Given the description of an element on the screen output the (x, y) to click on. 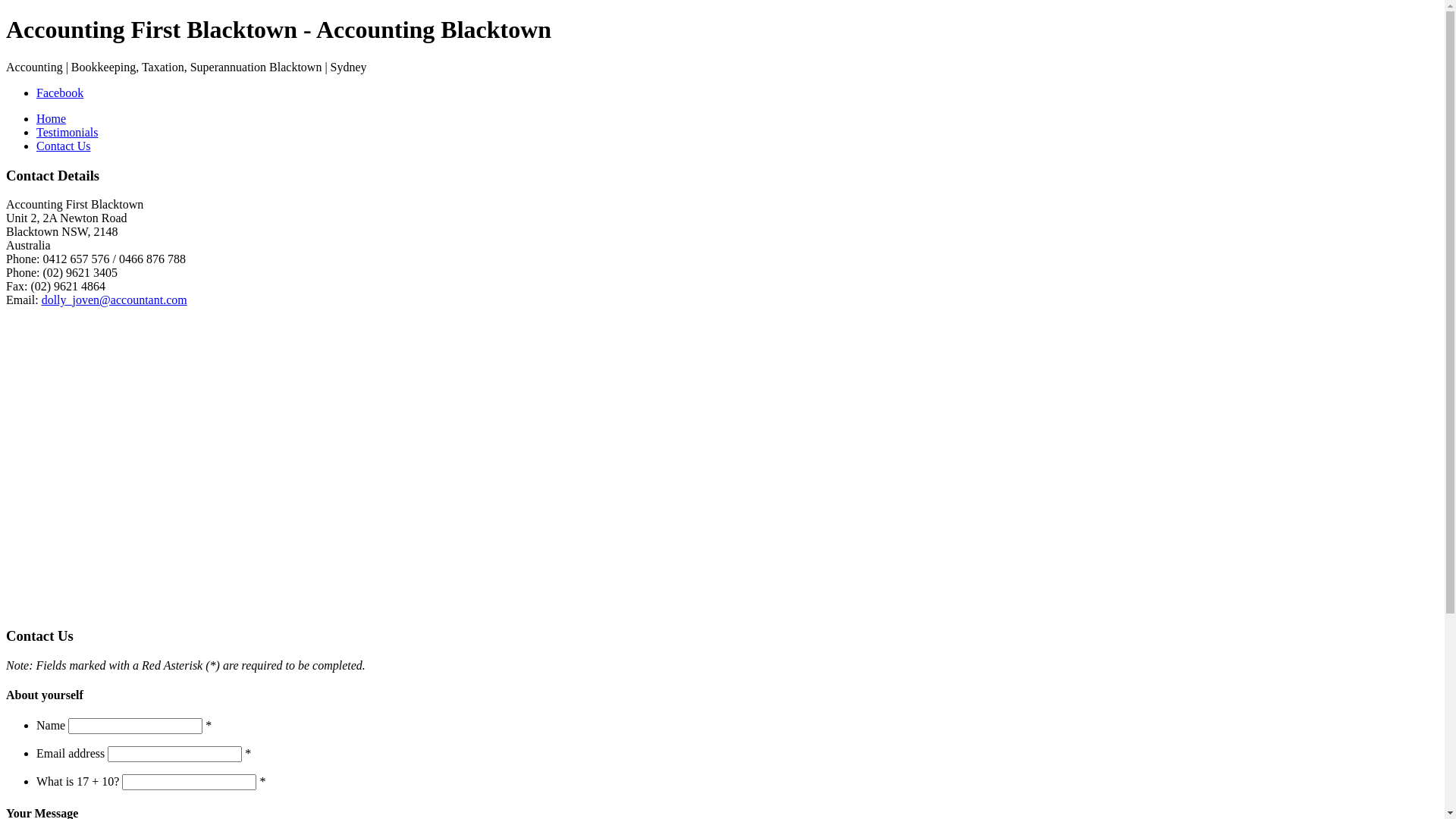
Facebook Element type: text (59, 92)
Contact Us Element type: text (63, 145)
dolly_joven@accountant.com Element type: text (114, 299)
Testimonials Element type: text (67, 131)
Home Element type: text (50, 118)
Embedded Google map Element type: hover (157, 458)
